Given the description of an element on the screen output the (x, y) to click on. 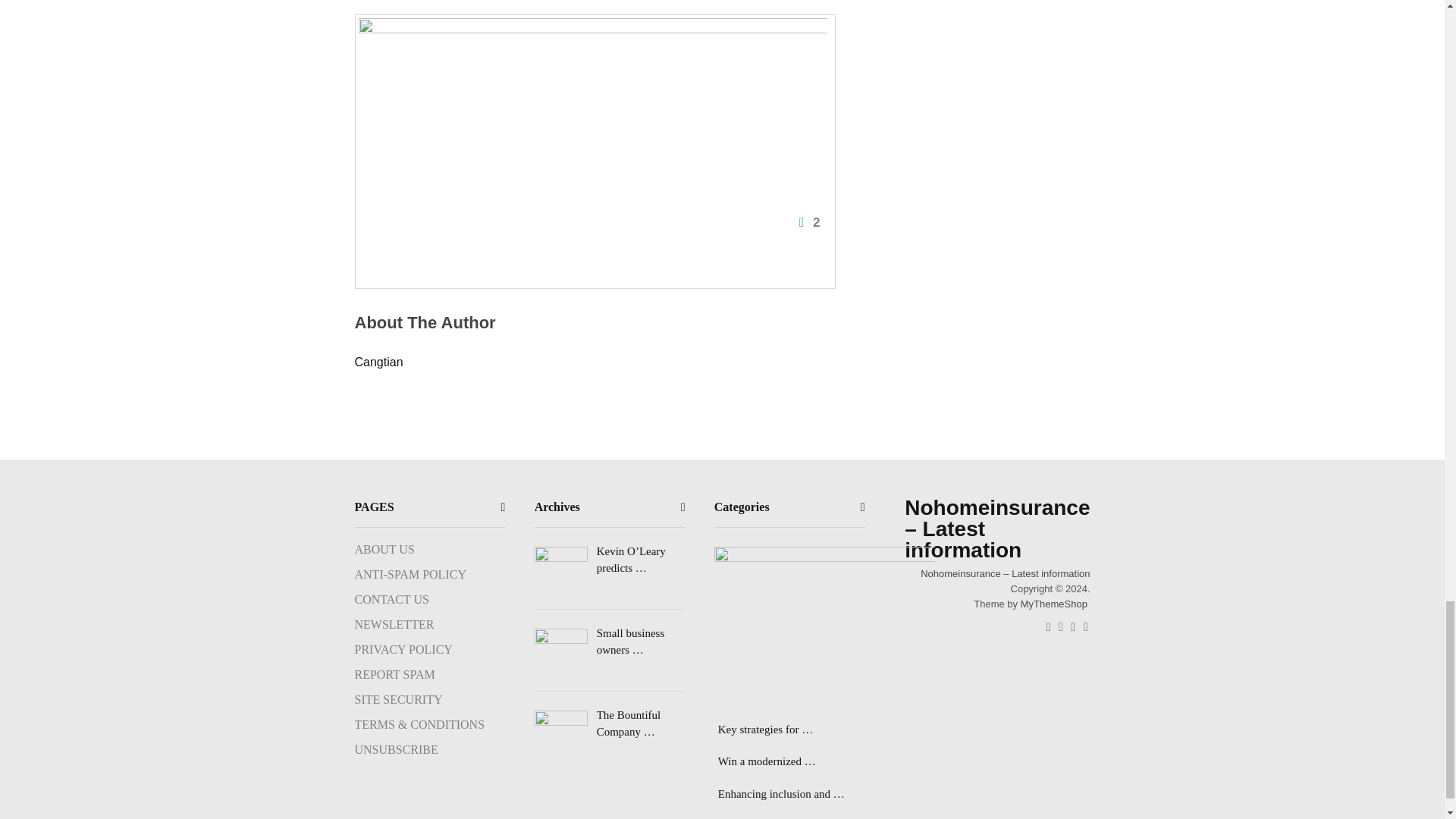
2 (592, 127)
MyThemeShop (1053, 603)
Small business owners say credit crunch post-SVB has arrived (609, 641)
Cangtian (379, 361)
Insurance, Innovation, Automotive, Business, Lifestyle (1004, 573)
